Given the description of an element on the screen output the (x, y) to click on. 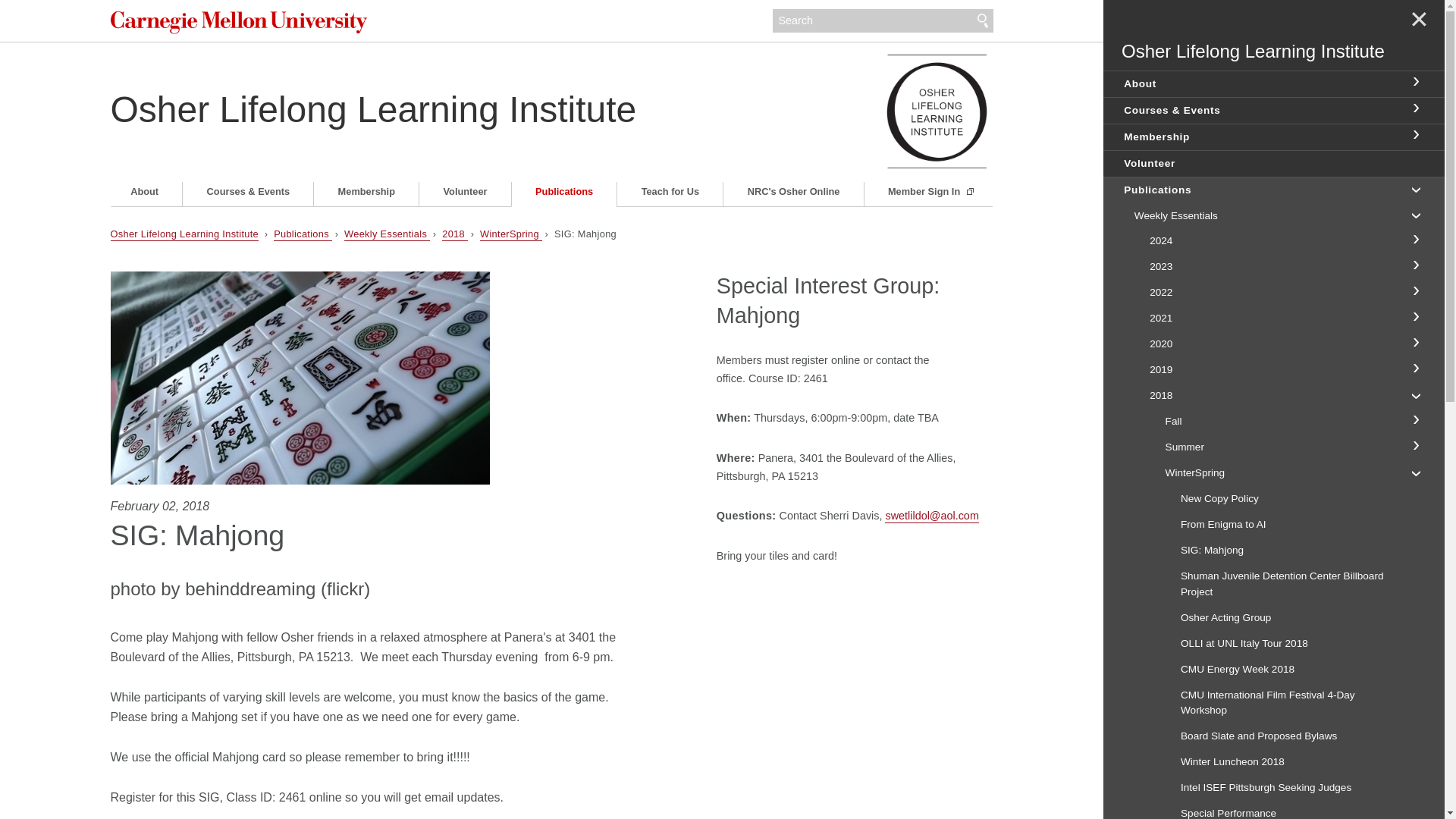
Osher Lifelong Learning Institute (184, 234)
Osher Lifelong Learning Institute (373, 109)
Member Sign In (929, 191)
Membership (366, 191)
Search (982, 21)
About (143, 191)
Carnegie Mellon University (248, 22)
Publications (563, 191)
2018 (454, 234)
WinterSpring (510, 234)
Weekly Essentials (386, 234)
NRC's Osher Online (793, 191)
Teach for Us (670, 191)
Volunteer (464, 191)
Publications (302, 234)
